Given the description of an element on the screen output the (x, y) to click on. 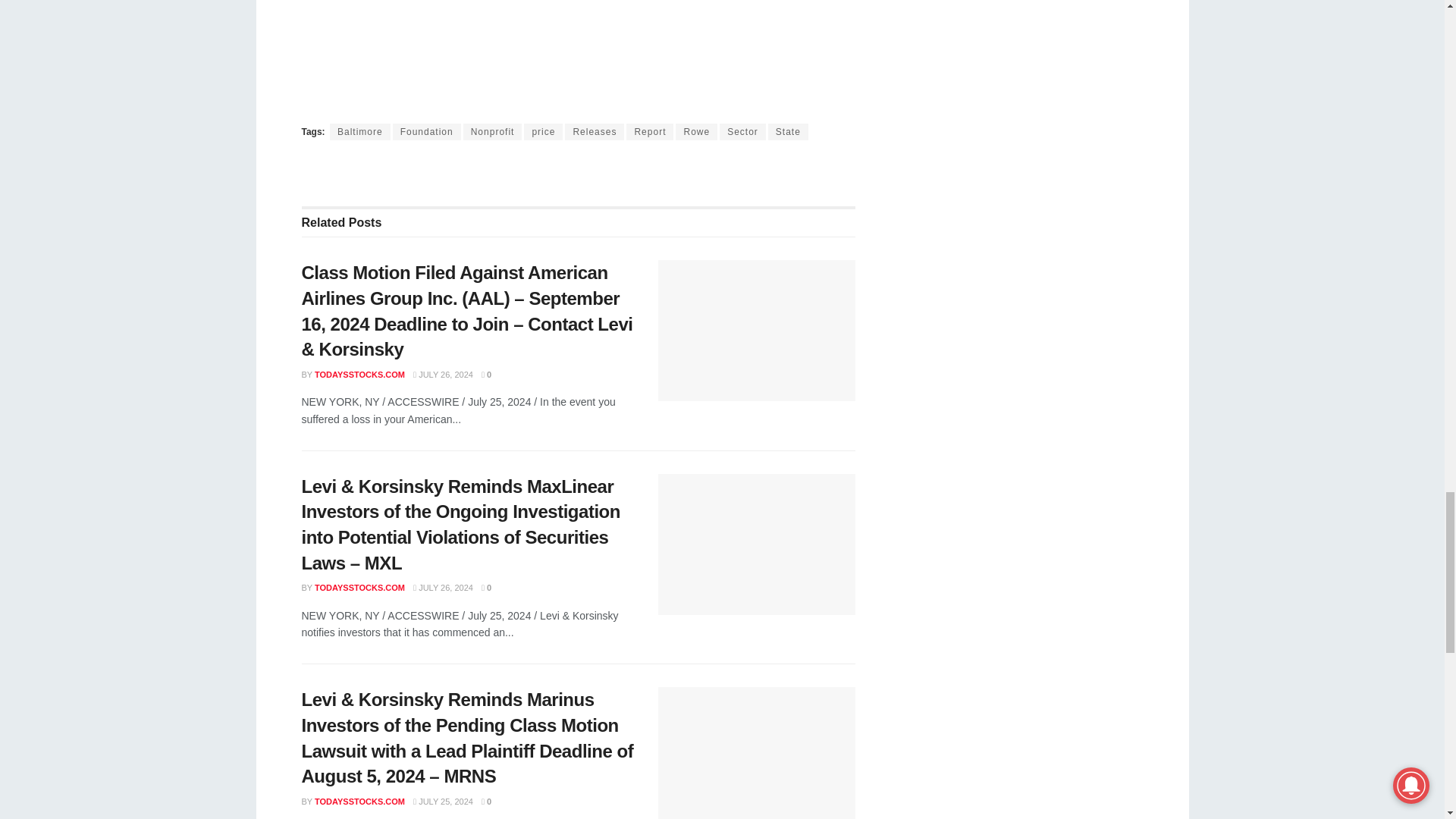
Baltimore (360, 131)
Foundation (427, 131)
